Given the description of an element on the screen output the (x, y) to click on. 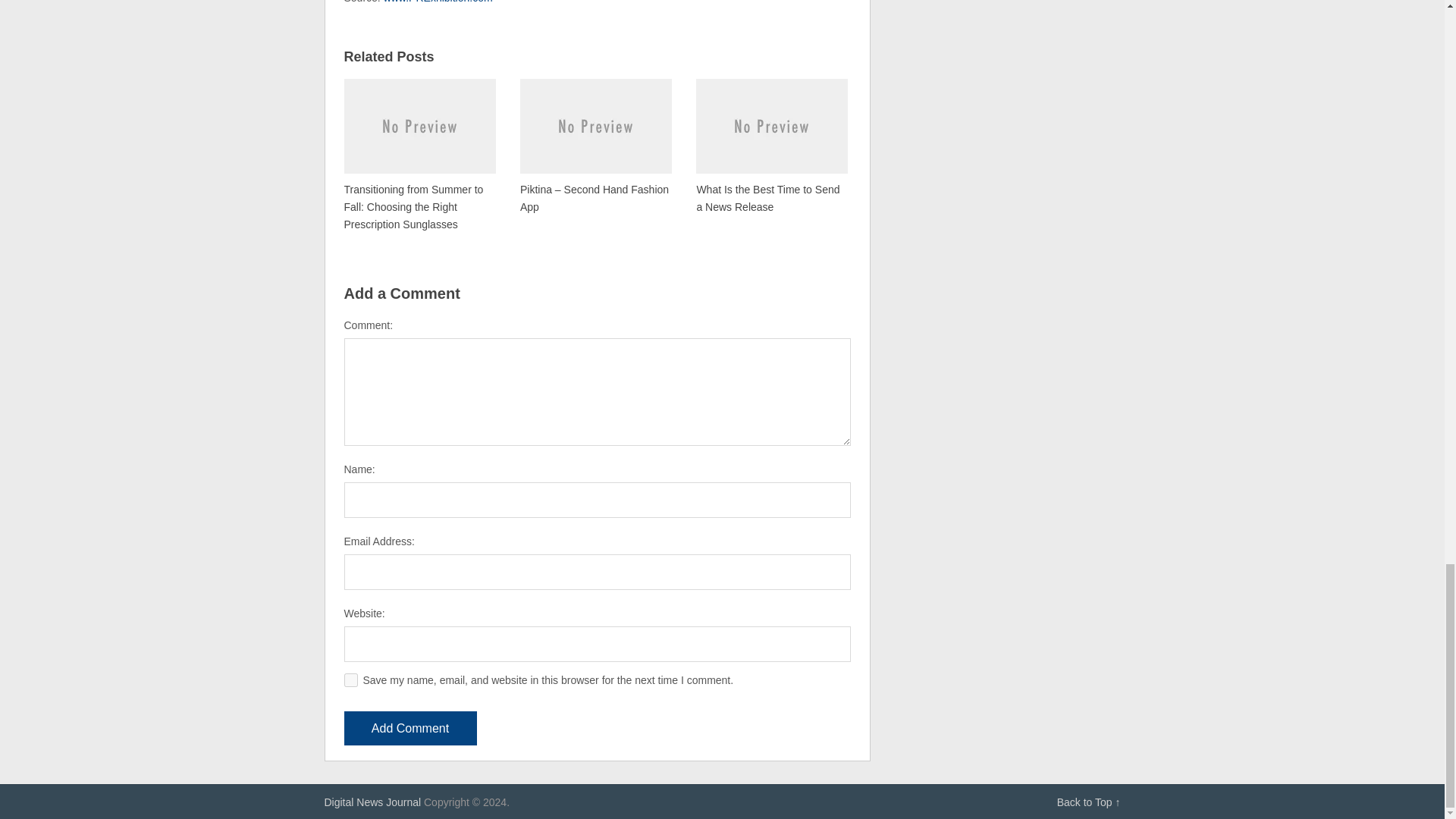
What Is the Best Time to Send a News Release (771, 145)
Add Comment (410, 728)
www.PRExhibition.com (438, 2)
What Is the Best Time to Send a News Release (771, 145)
Add Comment (410, 728)
yes (350, 680)
